Given the description of an element on the screen output the (x, y) to click on. 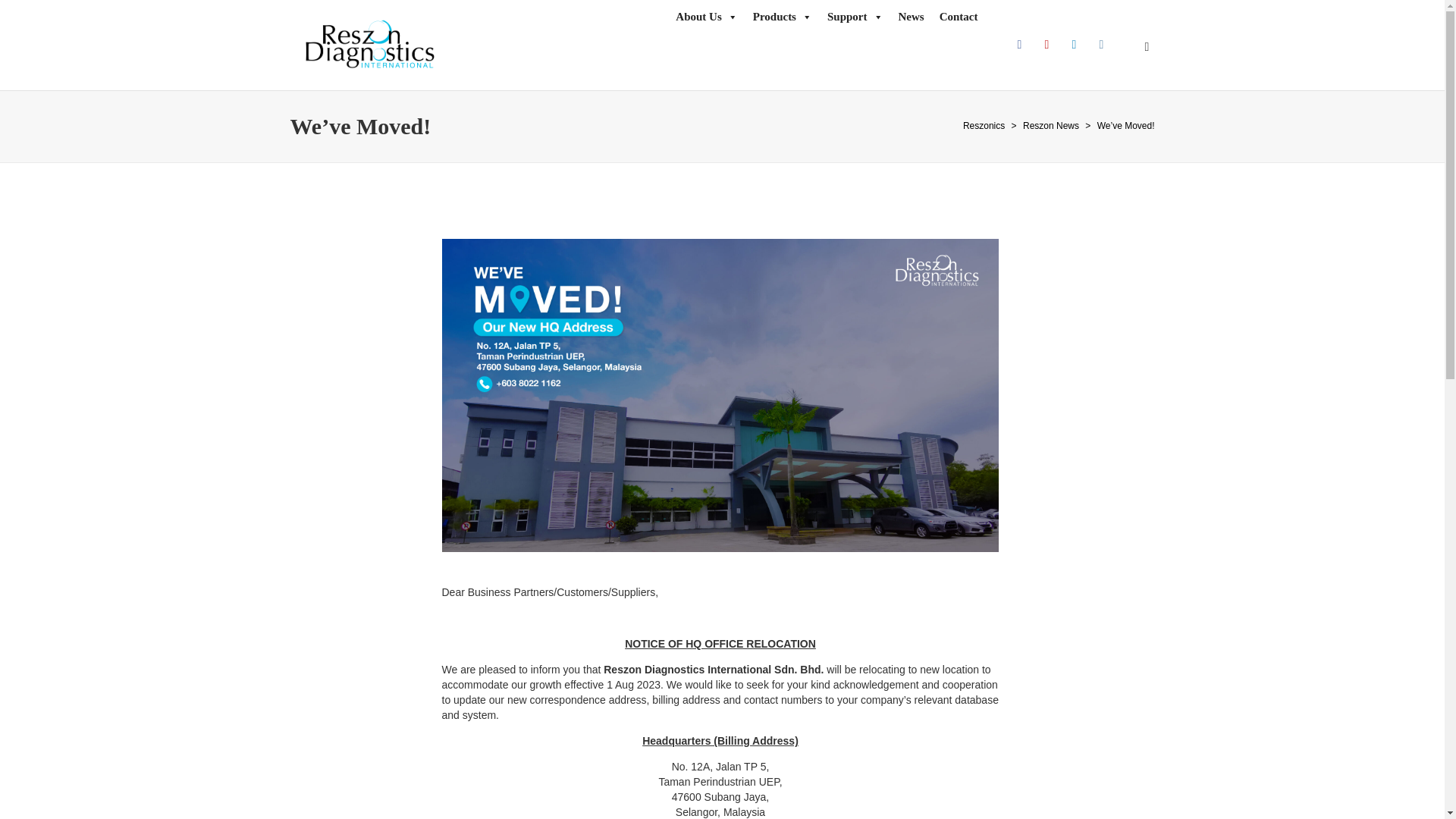
Products (782, 17)
About Us (706, 17)
Go to the Reszon News Category archives. (1050, 125)
Go to Reszonics. (983, 125)
